Given the description of an element on the screen output the (x, y) to click on. 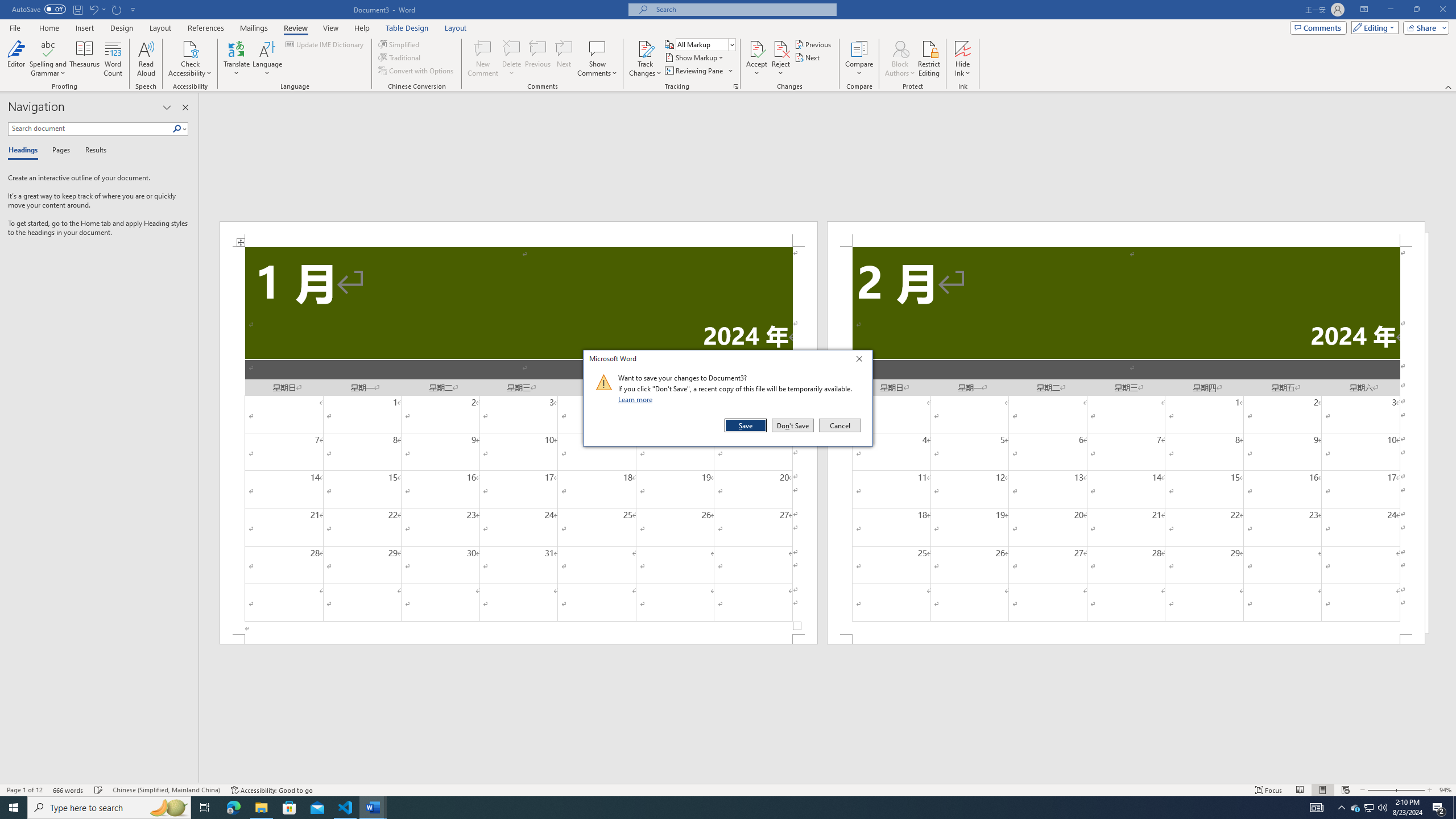
Language (267, 58)
Show Markup (695, 56)
Running applications (717, 807)
Previous (813, 44)
Microsoft Edge (233, 807)
Spelling and Grammar (48, 58)
Show Comments (597, 48)
Update IME Dictionary... (324, 44)
Word Count (113, 58)
Spelling and Grammar Check Checking (98, 790)
Check Accessibility (189, 58)
